Given the description of an element on the screen output the (x, y) to click on. 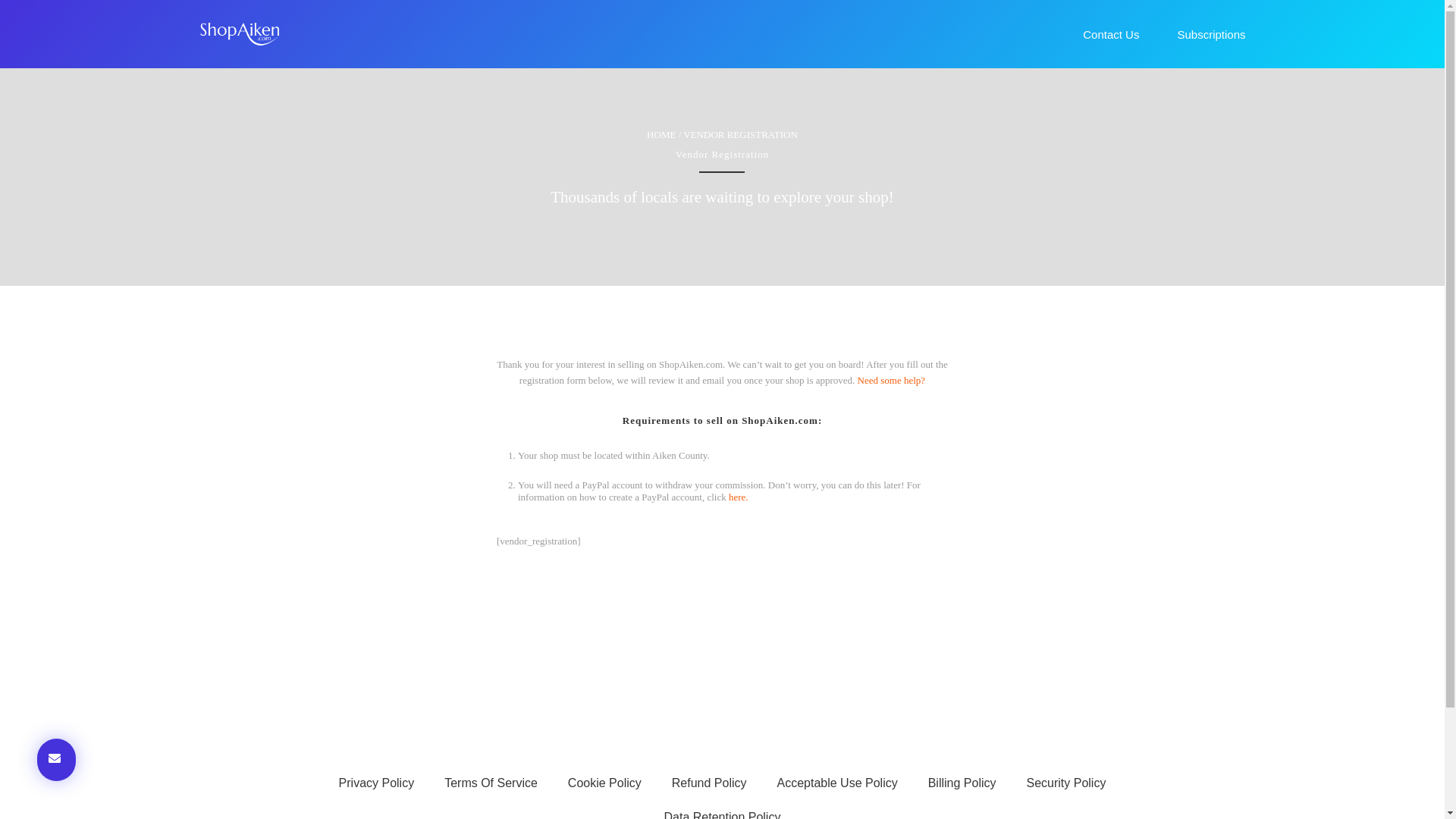
HOME (660, 134)
Acceptable Use Policy (836, 782)
Security Policy (1066, 782)
Billing Policy (961, 782)
Cookie Policy (604, 782)
Data Retention Policy (722, 809)
here. (738, 496)
Privacy Policy (376, 782)
Subscriptions (1210, 34)
Need some help? (891, 379)
Refund Policy (708, 782)
Terms Of Service (491, 782)
